Given the description of an element on the screen output the (x, y) to click on. 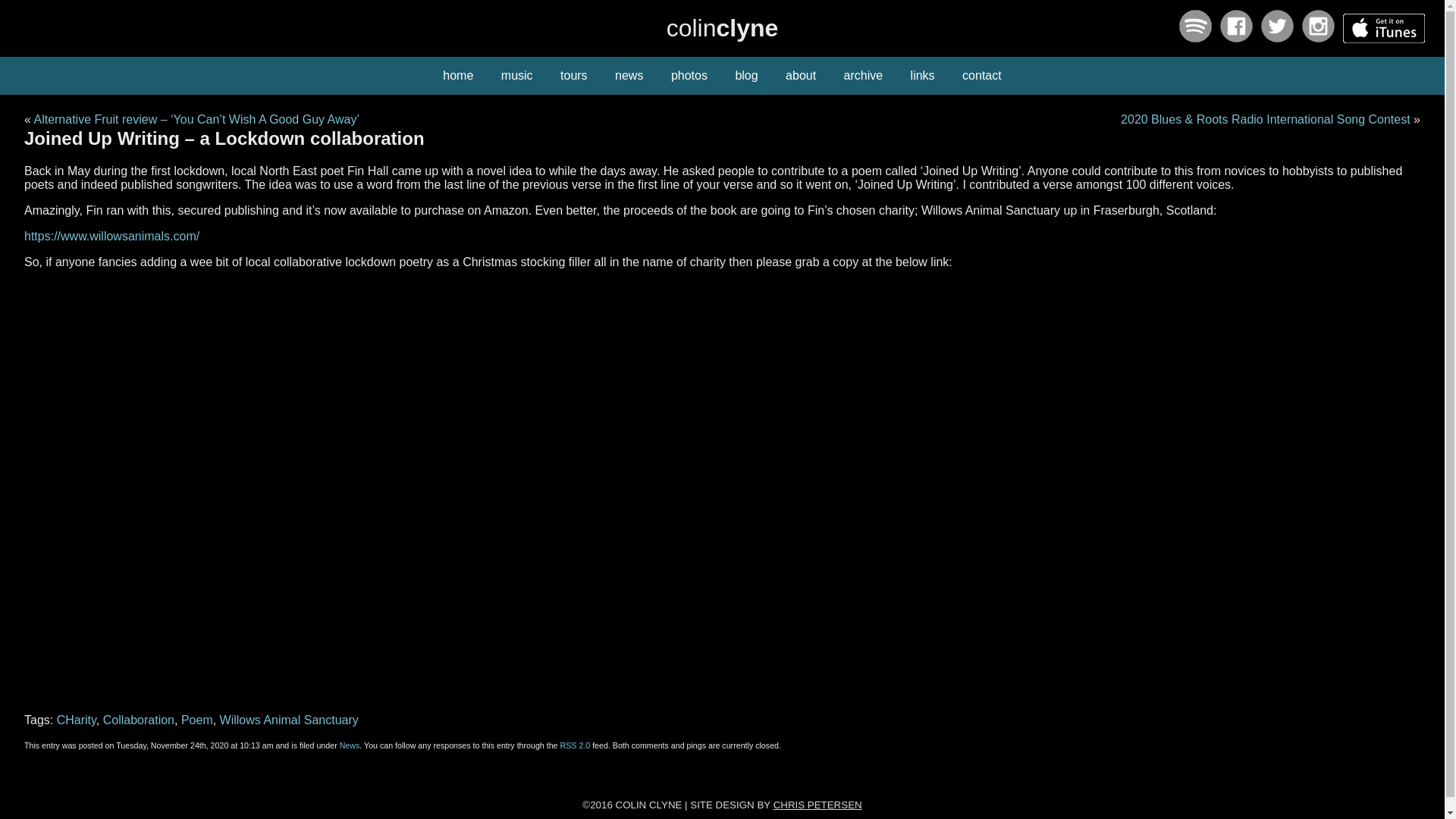
home (457, 75)
blog (746, 75)
links (922, 75)
photos (689, 75)
contact (981, 75)
CHRIS PETERSEN (817, 804)
Collaboration (138, 719)
archive (863, 75)
CHarity (76, 719)
about (800, 75)
